Given the description of an element on the screen output the (x, y) to click on. 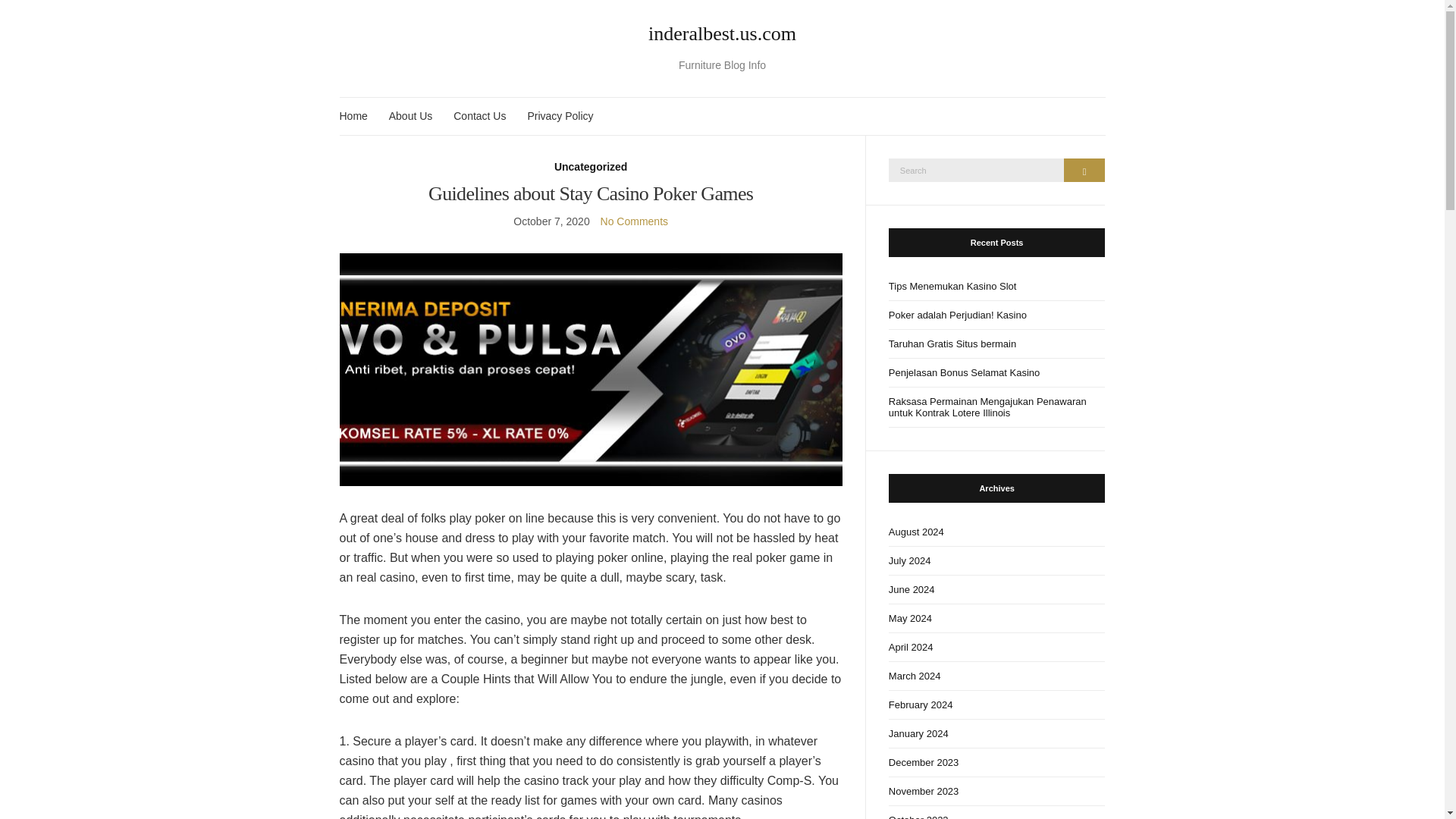
Privacy Policy (559, 116)
inderalbest.us.com (722, 33)
Taruhan Gratis Situs bermain (996, 343)
Penjelasan Bonus Selamat Kasino (996, 371)
Contact Us (478, 116)
August 2024 (996, 531)
Uncategorized (590, 166)
June 2024 (996, 588)
Poker adalah Perjudian! Kasino (996, 314)
